Given the description of an element on the screen output the (x, y) to click on. 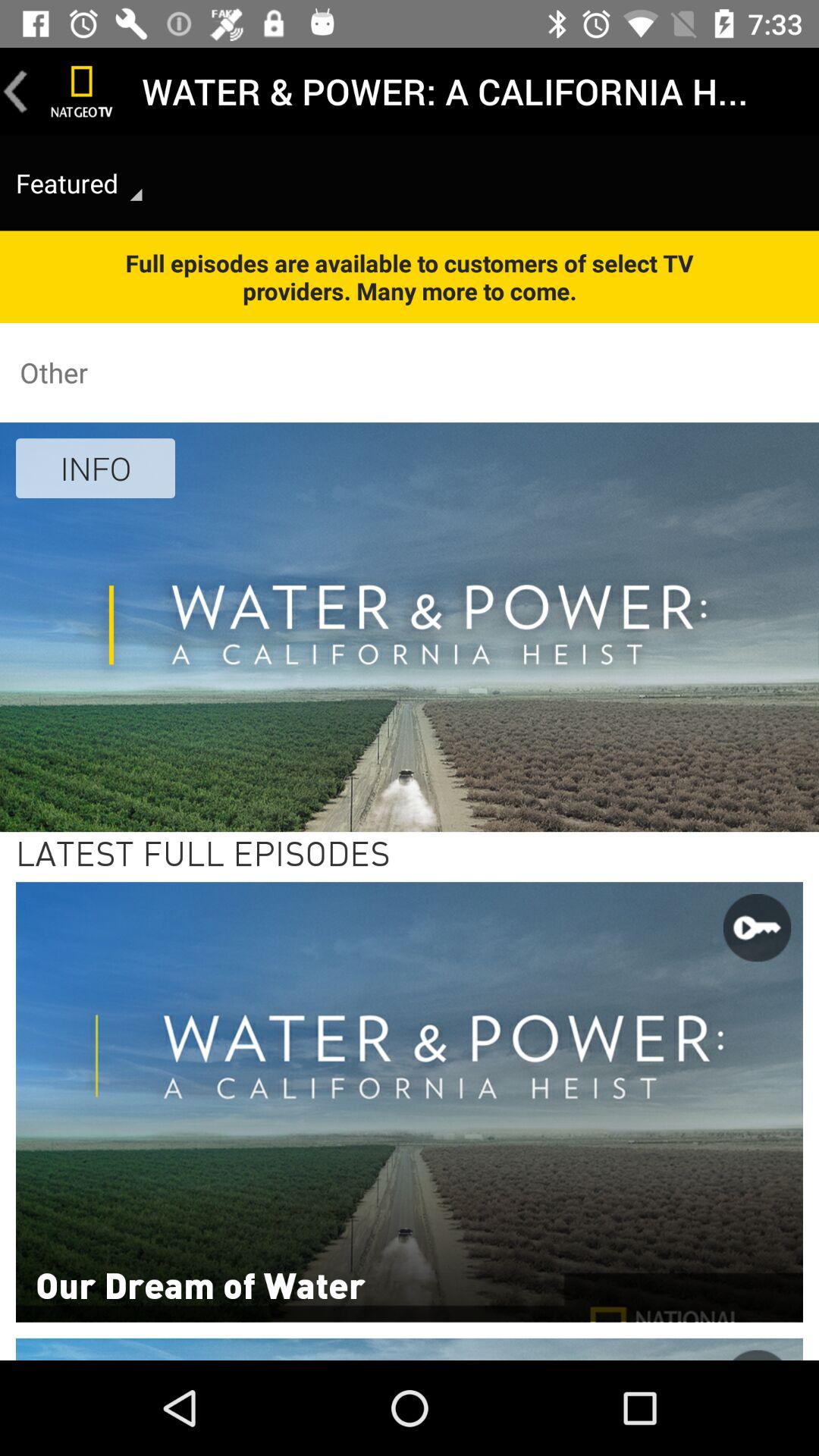
launch the icon above featured (15, 91)
